Given the description of an element on the screen output the (x, y) to click on. 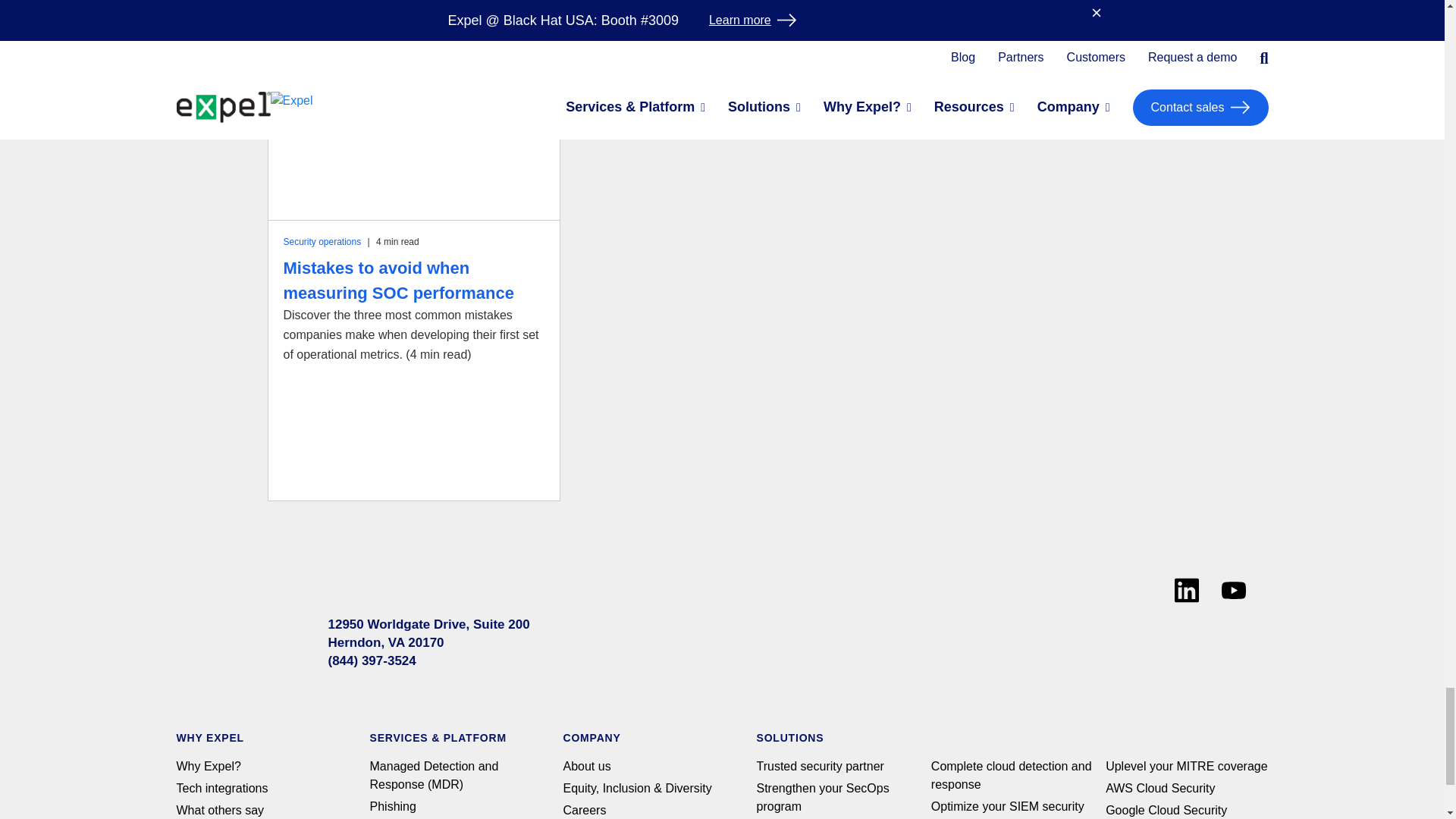
youtube-icon (1232, 590)
linkedin-icon (1185, 590)
twitter-x-icon (1037, 634)
